Given the description of an element on the screen output the (x, y) to click on. 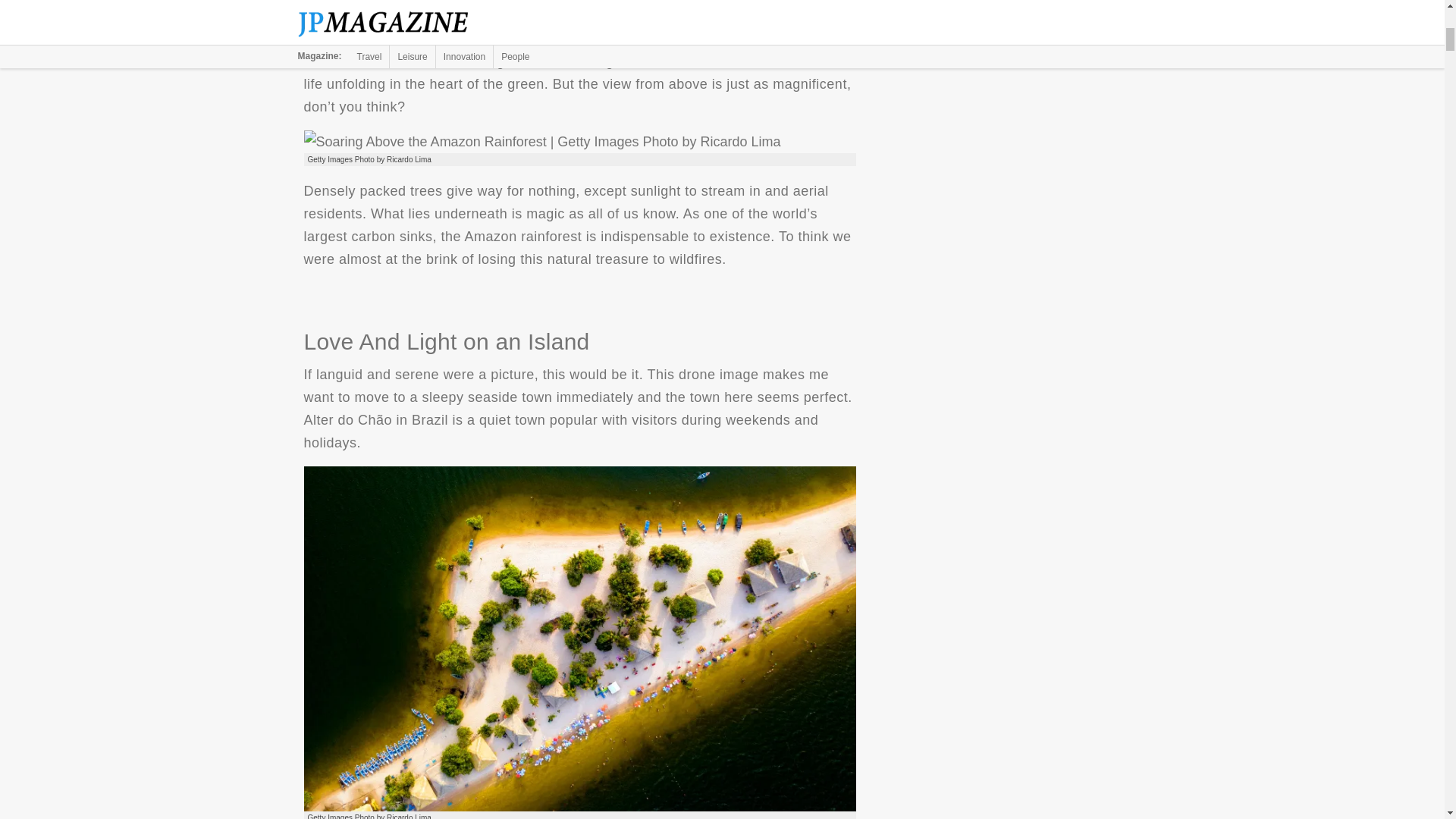
Soaring Above the Amazon Rainforest (541, 141)
